Given the description of an element on the screen output the (x, y) to click on. 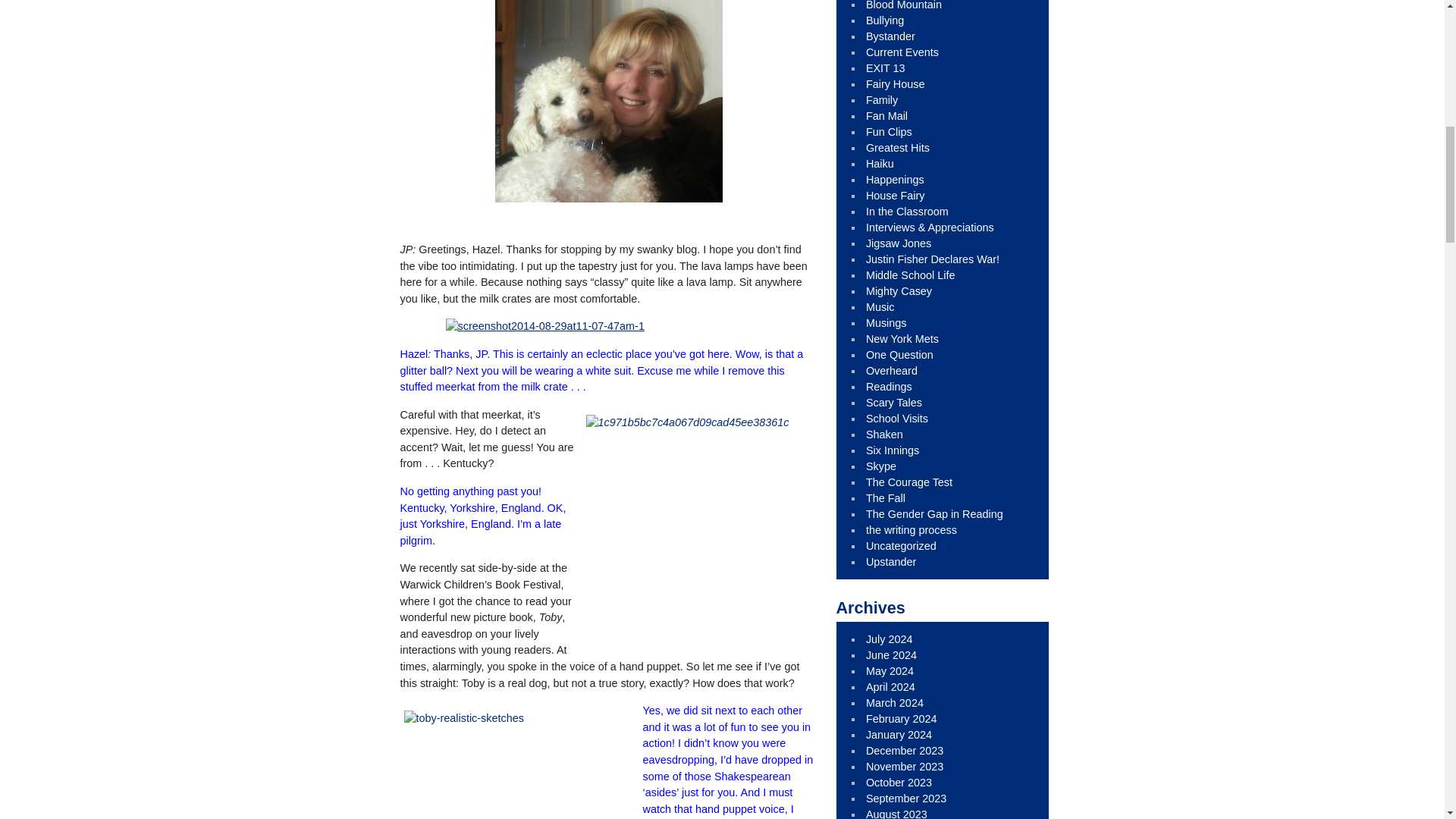
Favorite old posts. (898, 147)
